Given the description of an element on the screen output the (x, y) to click on. 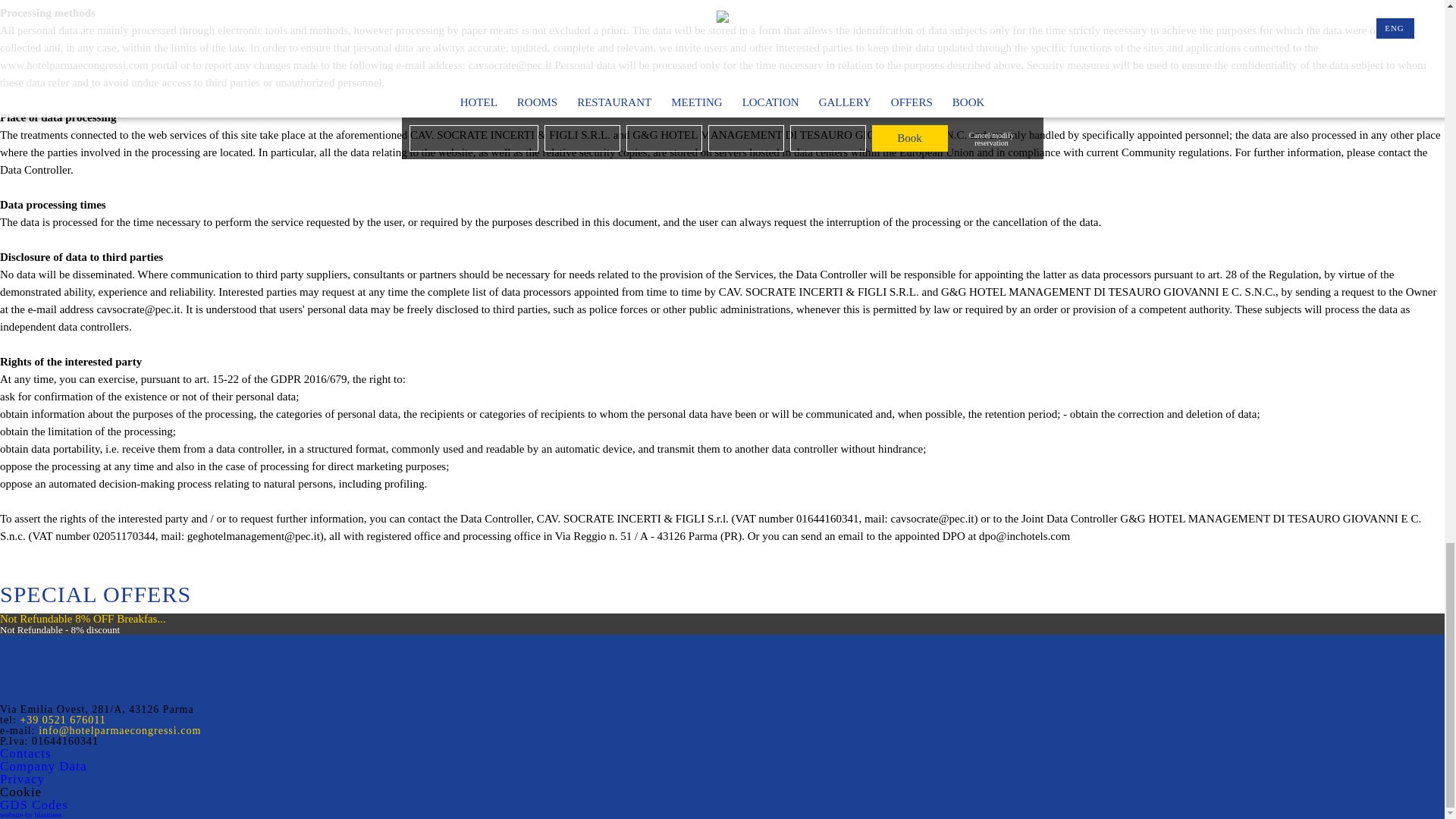
Privacy (22, 779)
Company Data (42, 766)
Contacts (25, 753)
Contacts (25, 753)
GDS Codes (34, 804)
GDS Codes (34, 804)
Cookie (21, 791)
Company Data (42, 766)
Privacy (22, 779)
Cookie  (21, 791)
